Given the description of an element on the screen output the (x, y) to click on. 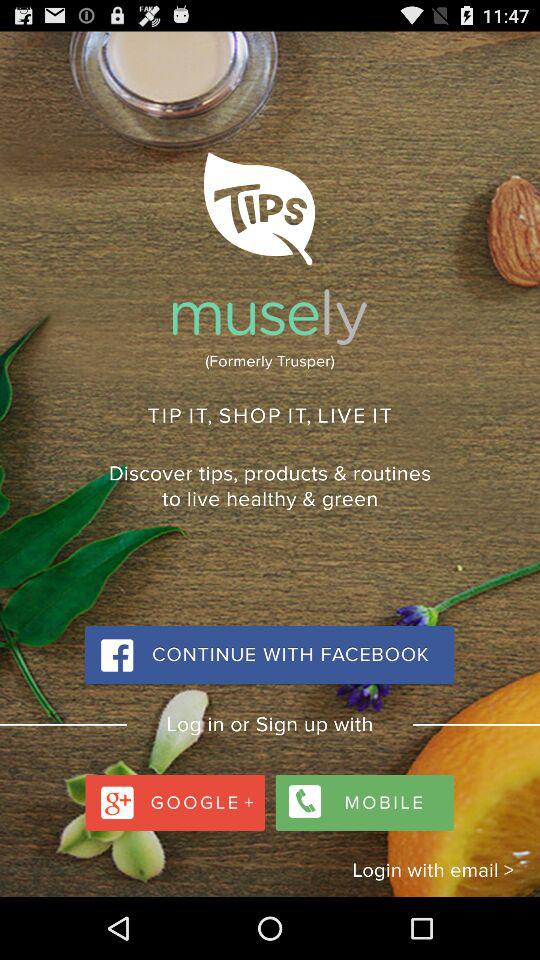
switch to phone (362, 797)
